Given the description of an element on the screen output the (x, y) to click on. 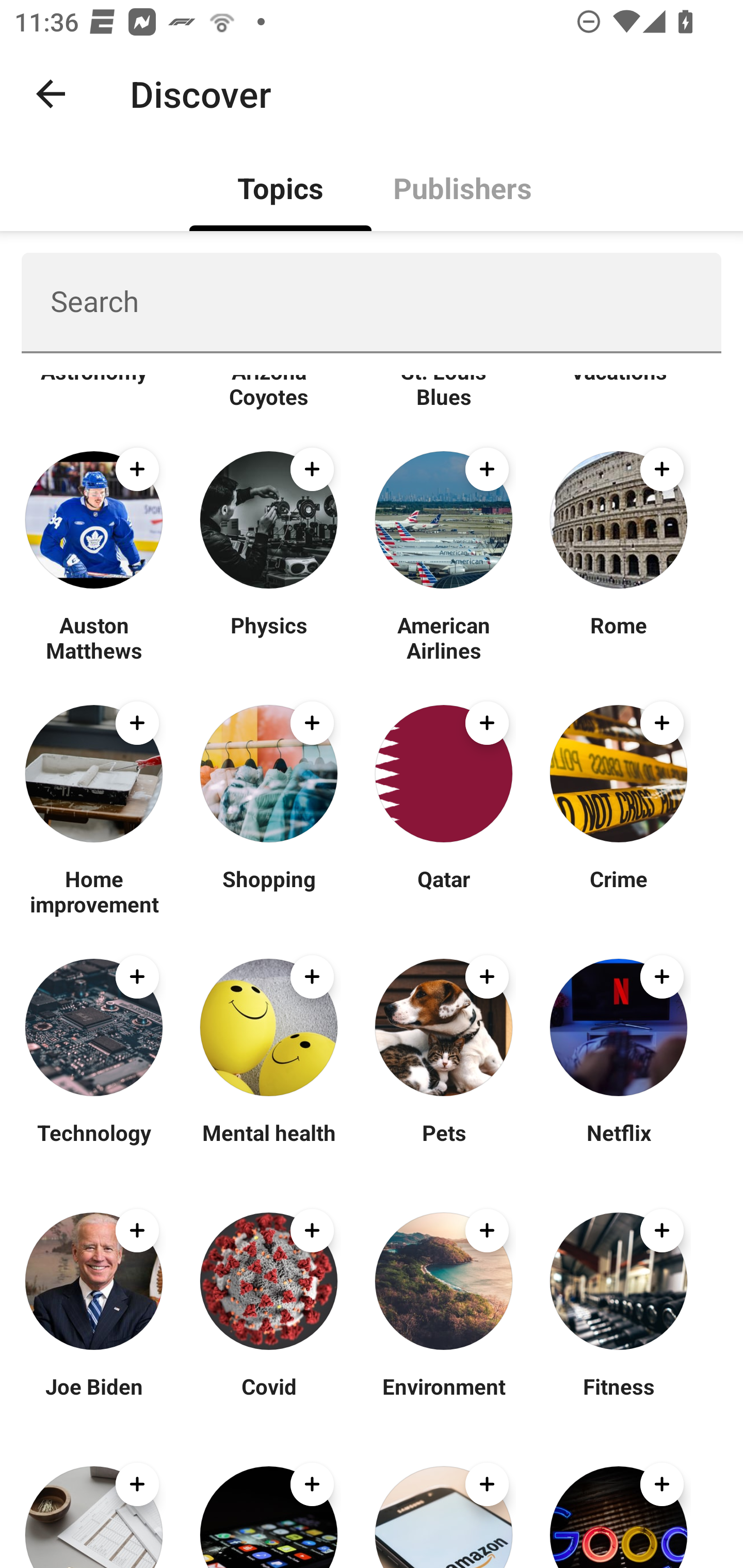
Publishers (462, 187)
Search (371, 302)
Auston Matthews (93, 636)
Physics (268, 636)
American Airlines (443, 636)
Rome (618, 636)
Home improvement (93, 890)
Shopping (268, 890)
Qatar (443, 890)
Crime (618, 890)
Technology (93, 1144)
Mental health (268, 1144)
Pets (443, 1144)
Netflix (618, 1144)
Joe Biden (93, 1399)
Covid (268, 1399)
Environment (443, 1399)
Fitness (618, 1399)
